Given the description of an element on the screen output the (x, y) to click on. 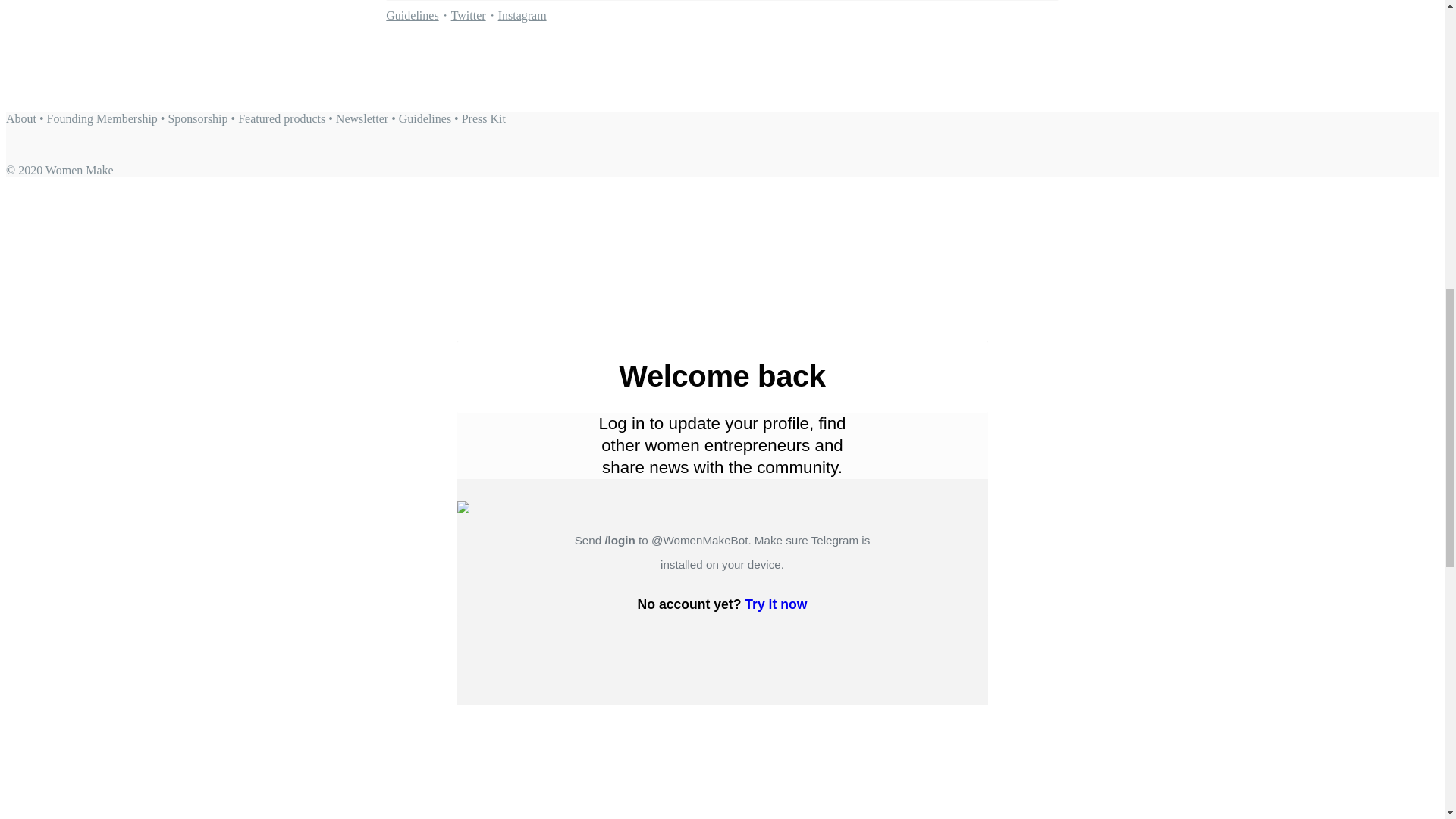
Instagram (522, 15)
Featured products (281, 118)
Guidelines (411, 15)
Guidelines (424, 118)
Founding Membership (101, 118)
Press Kit (483, 118)
About (20, 118)
Sponsorship (197, 118)
Try it now (775, 604)
Twitter (468, 15)
